Given the description of an element on the screen output the (x, y) to click on. 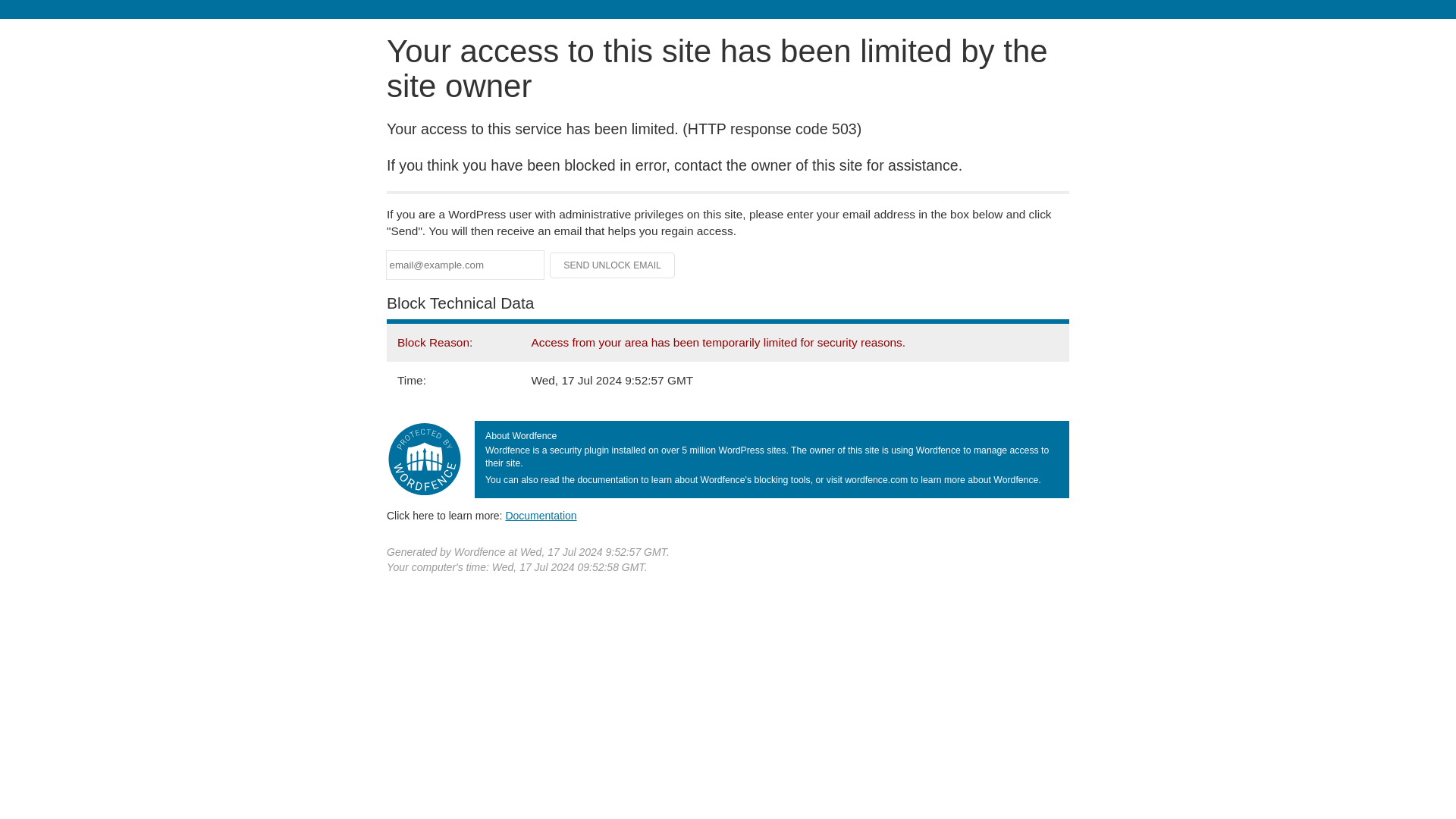
Documentation (540, 515)
Send Unlock Email (612, 265)
Send Unlock Email (612, 265)
